Given the description of an element on the screen output the (x, y) to click on. 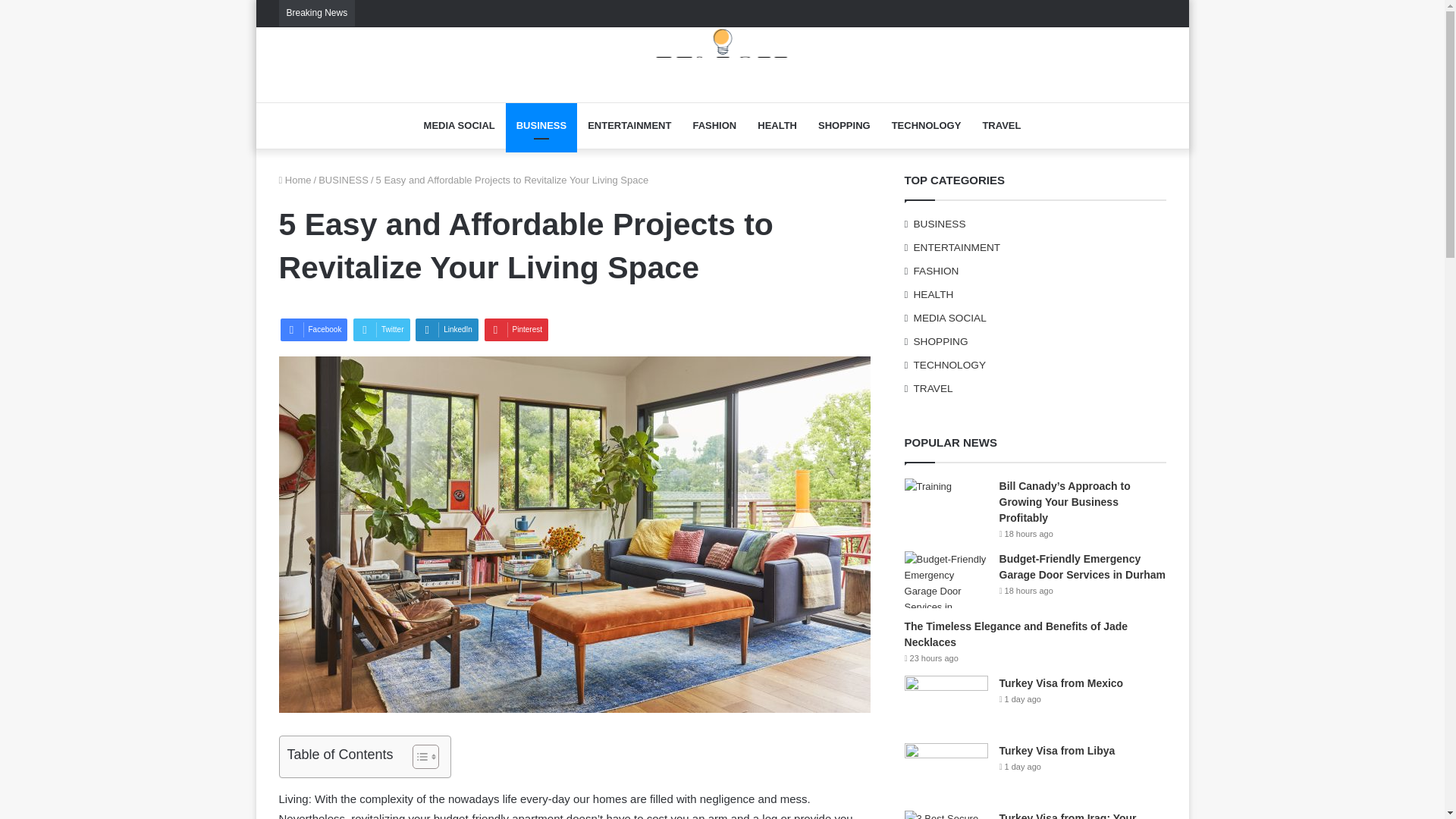
Facebook (314, 329)
Pinterest (516, 329)
TECHNOLOGY (926, 125)
Twitter (381, 329)
TRAVEL (1000, 125)
SHOPPING (844, 125)
Facebook (314, 329)
Pinterest (516, 329)
FASHION (713, 125)
Home (295, 179)
ENTERTAINMENT (628, 125)
Twitter (381, 329)
BUSINESS (343, 179)
Felicii (721, 56)
BUSINESS (540, 125)
